Given the description of an element on the screen output the (x, y) to click on. 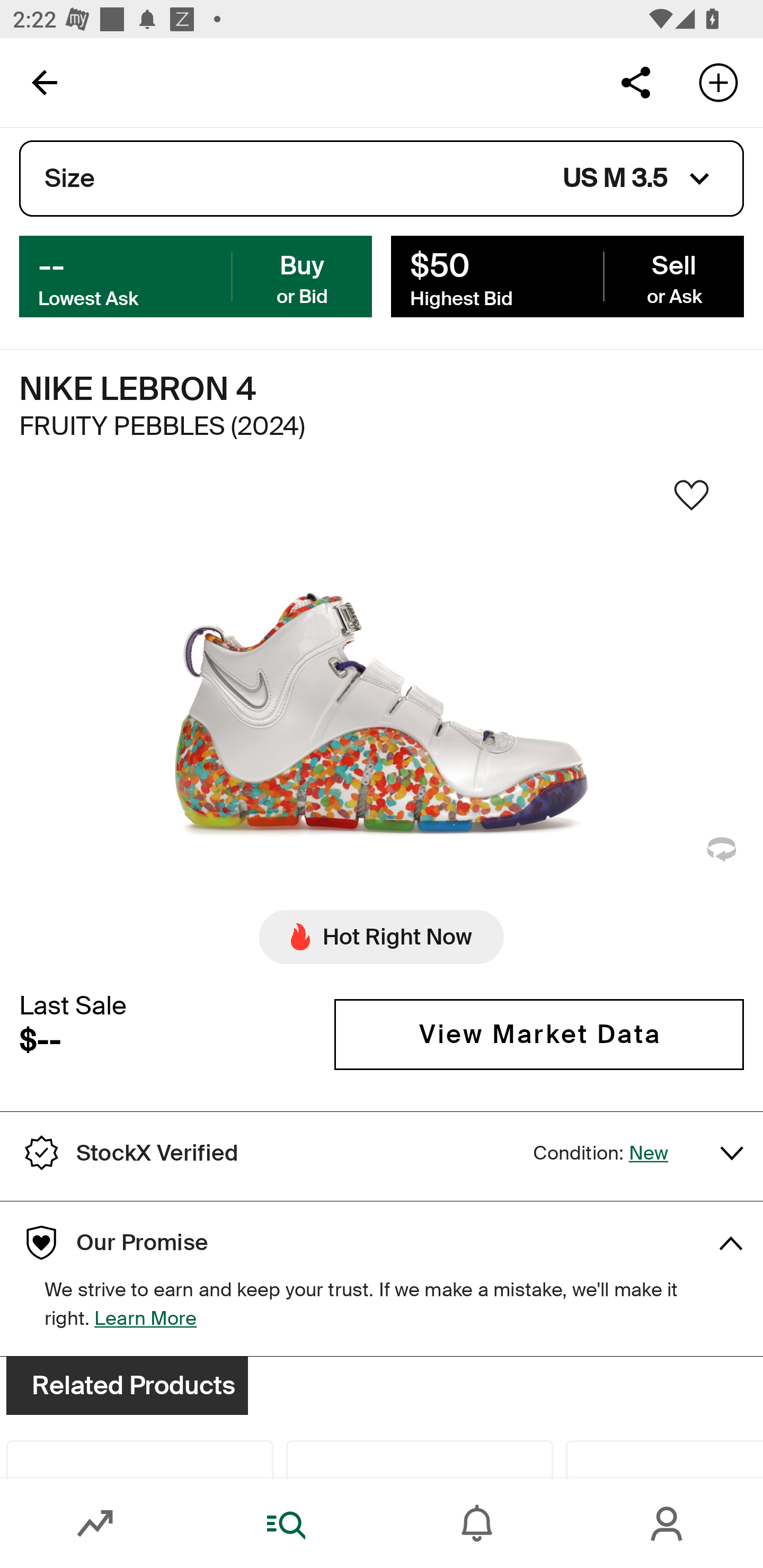
Share (635, 81)
Add (718, 81)
Size US M 3.5 (381, 178)
-- Buy Lowest Ask or Bid (195, 275)
$50 Sell Highest Bid or Ask (566, 275)
Sneaker Image (381, 699)
View Market Data (538, 1034)
Market (95, 1523)
Inbox (476, 1523)
Account (667, 1523)
